Given the description of an element on the screen output the (x, y) to click on. 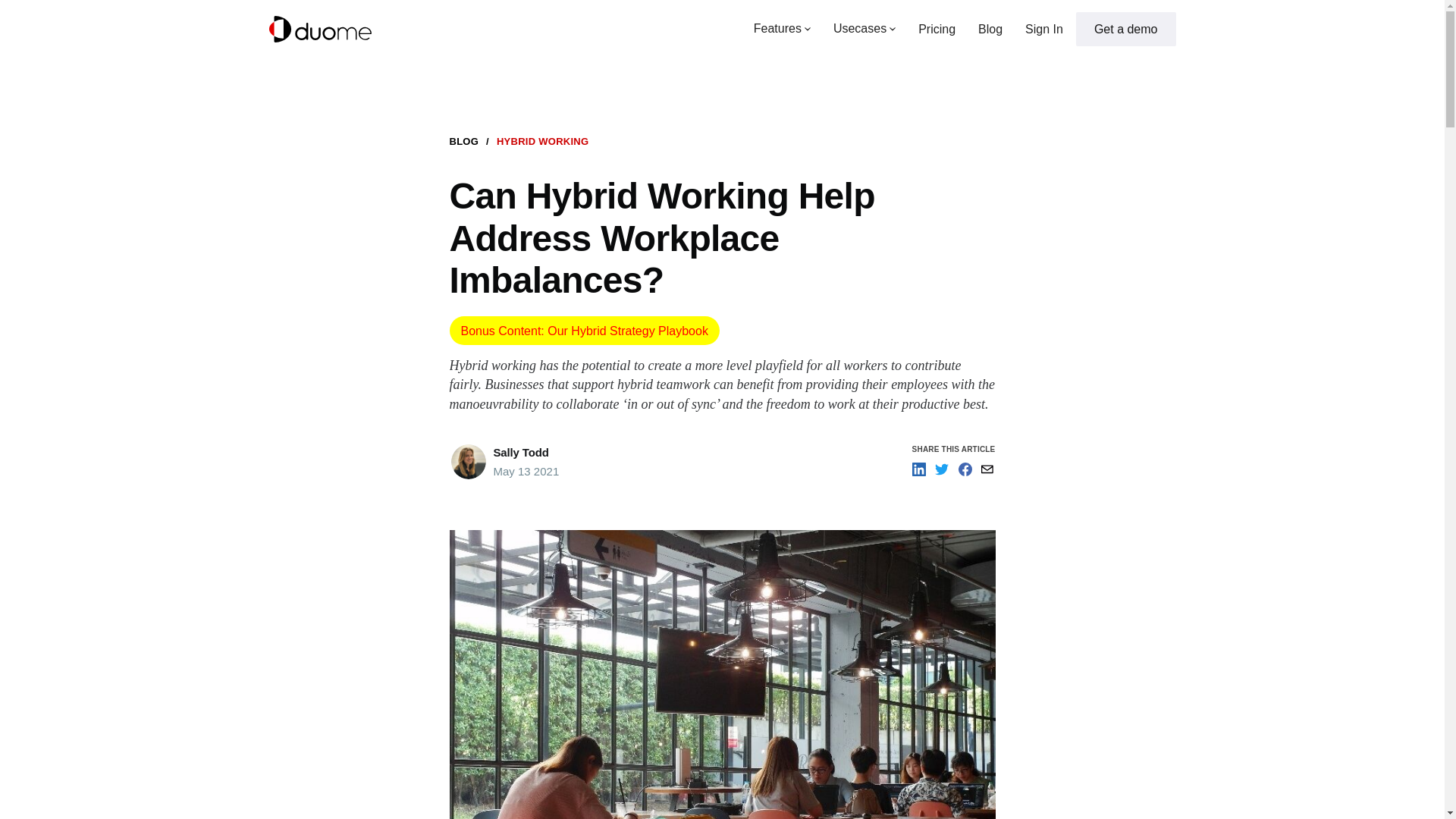
Bonus Content: Our Hybrid Strategy Playbook (583, 330)
Pricing (936, 28)
HYBRID WORKING (542, 141)
Sign In (1043, 28)
Get a demo (1125, 29)
BLOG (463, 141)
Sally Todd (520, 451)
